Given the description of an element on the screen output the (x, y) to click on. 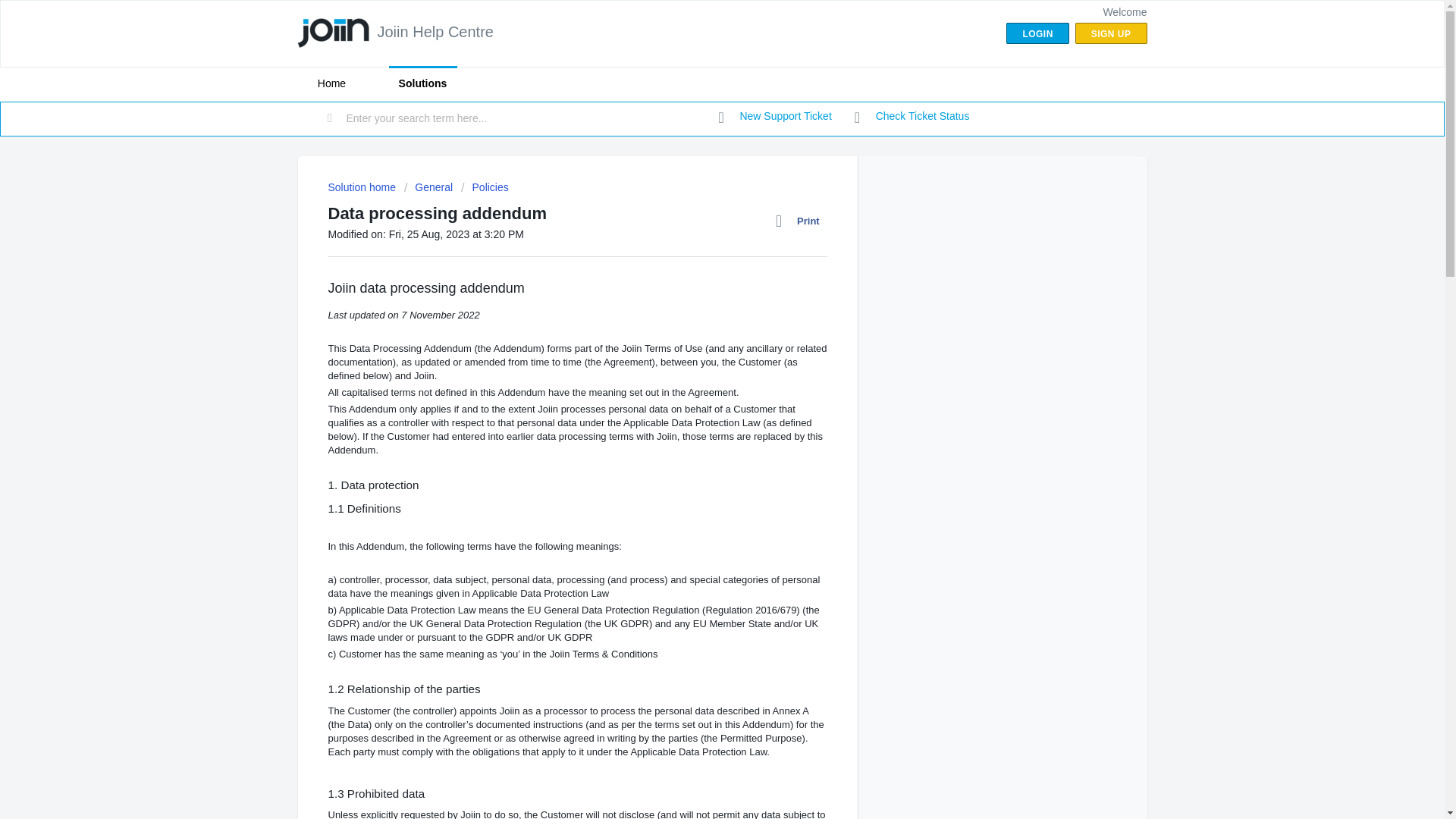
Policies (484, 186)
Home (331, 83)
New Support Ticket (775, 116)
SIGN UP (1111, 33)
LOGIN (1037, 33)
New support ticket (775, 116)
Print this Article (801, 220)
Check Ticket Status (911, 116)
Solutions (422, 83)
Solution home (362, 186)
